Given the description of an element on the screen output the (x, y) to click on. 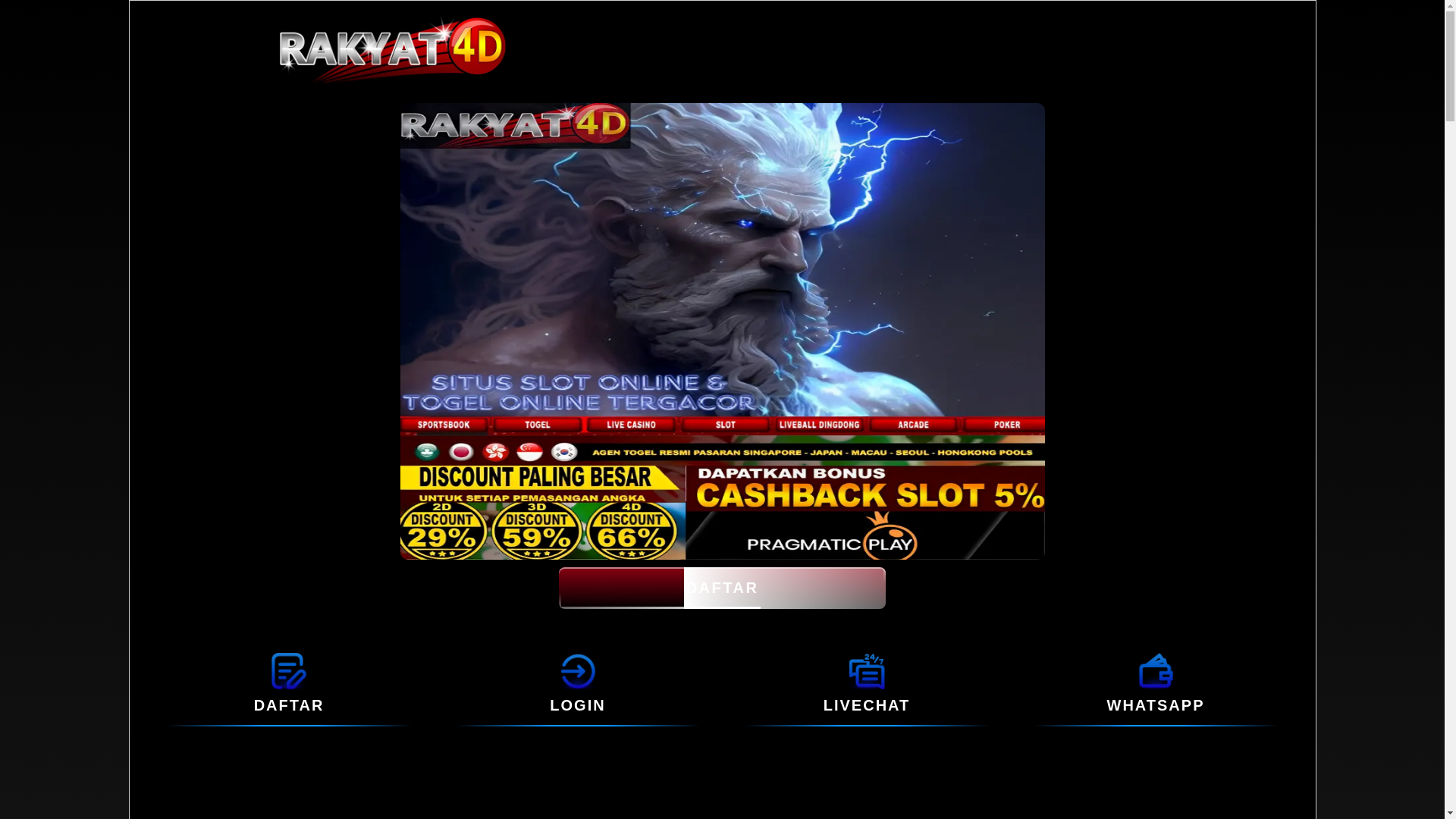
LOGIN (577, 670)
LIVECHAT (866, 670)
DAFTAR (722, 588)
LIVECHAT (867, 704)
WHATSAPP (1155, 704)
DAFTAR (288, 670)
WHATSAPP (1155, 670)
DAFTAR (288, 704)
LOGIN (577, 704)
